Given the description of an element on the screen output the (x, y) to click on. 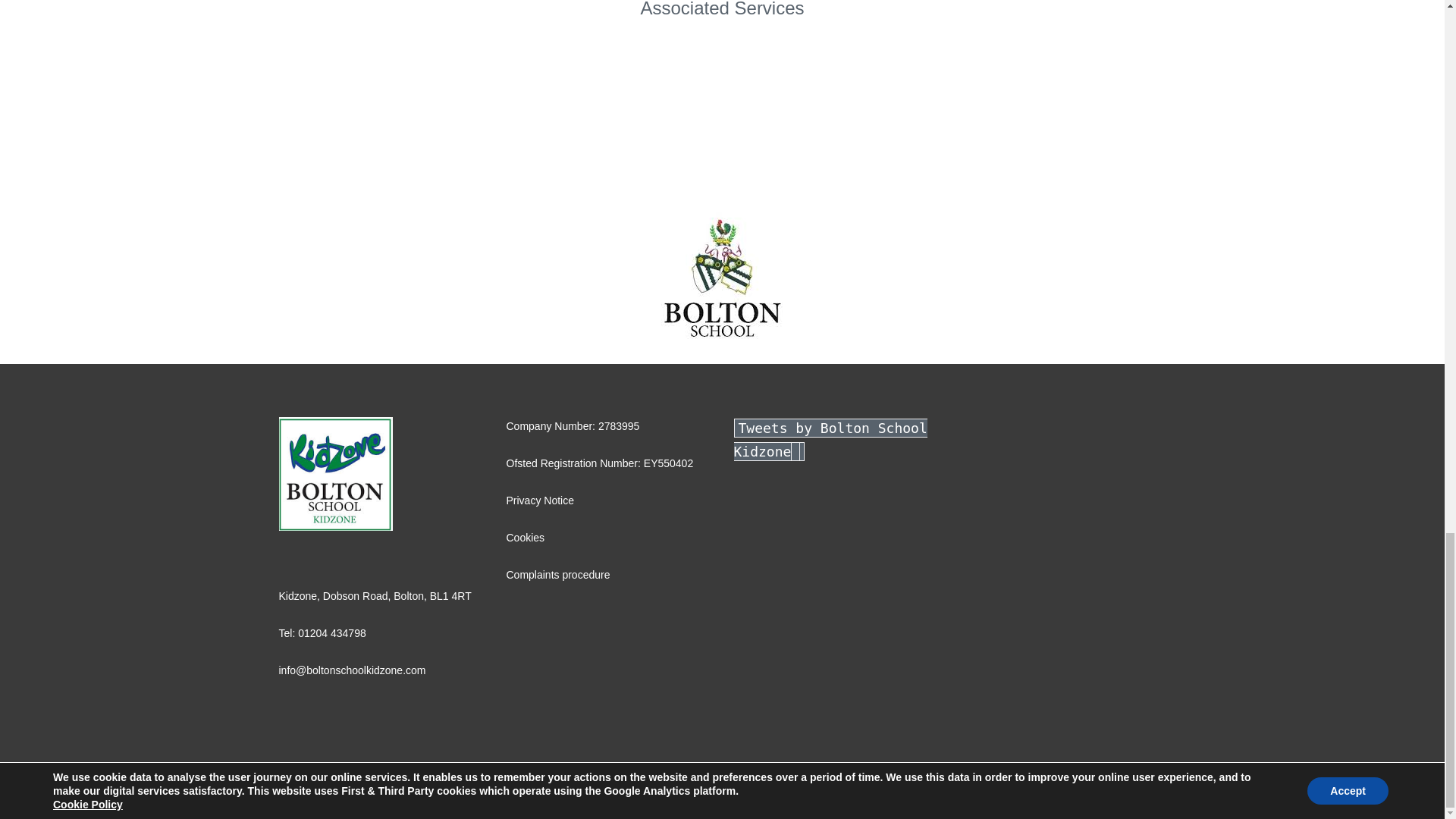
Tel: 01204 434798 (322, 633)
